Given the description of an element on the screen output the (x, y) to click on. 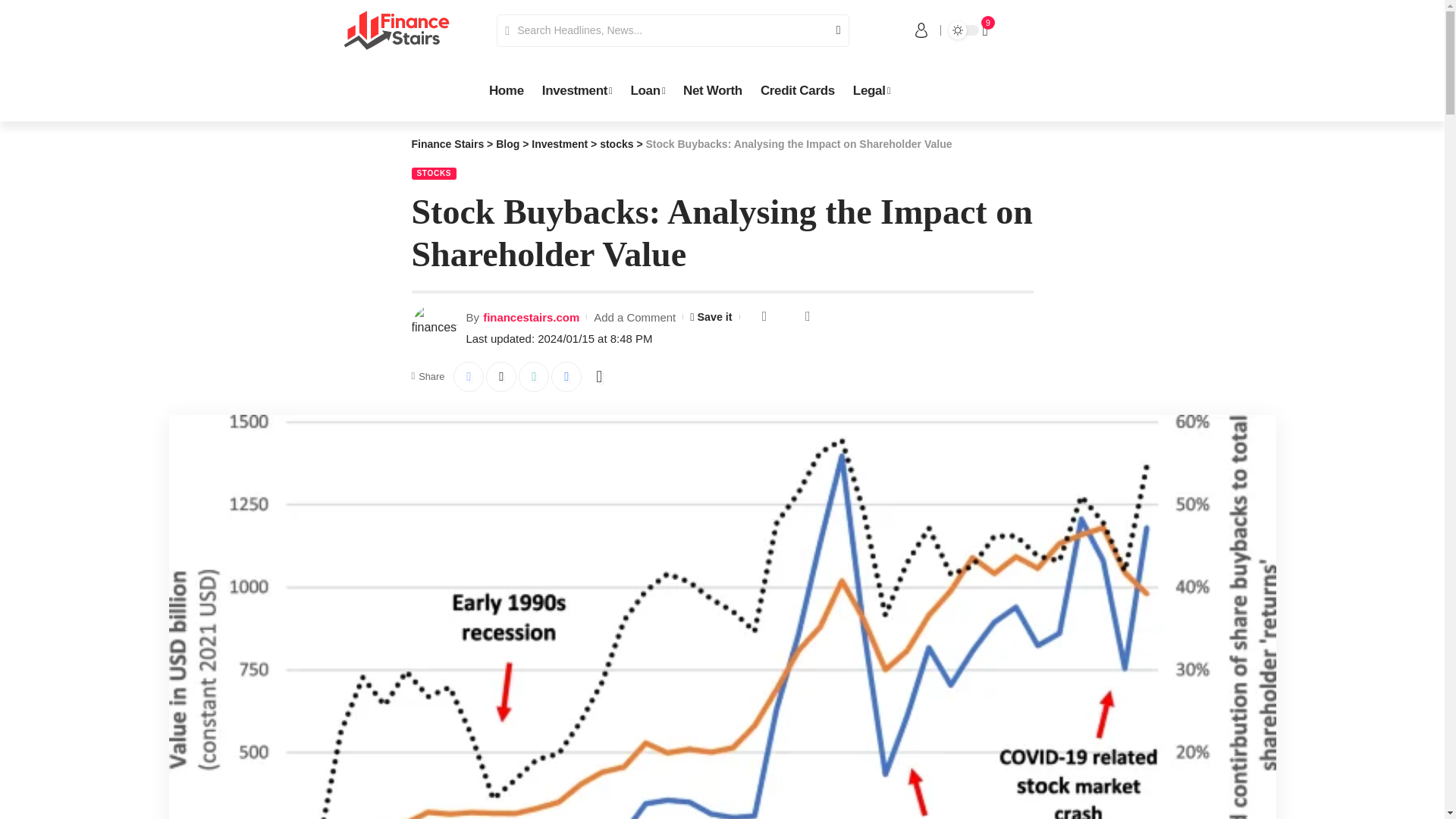
Investment (576, 90)
Loan (647, 90)
Search (833, 30)
Home (506, 90)
